Given the description of an element on the screen output the (x, y) to click on. 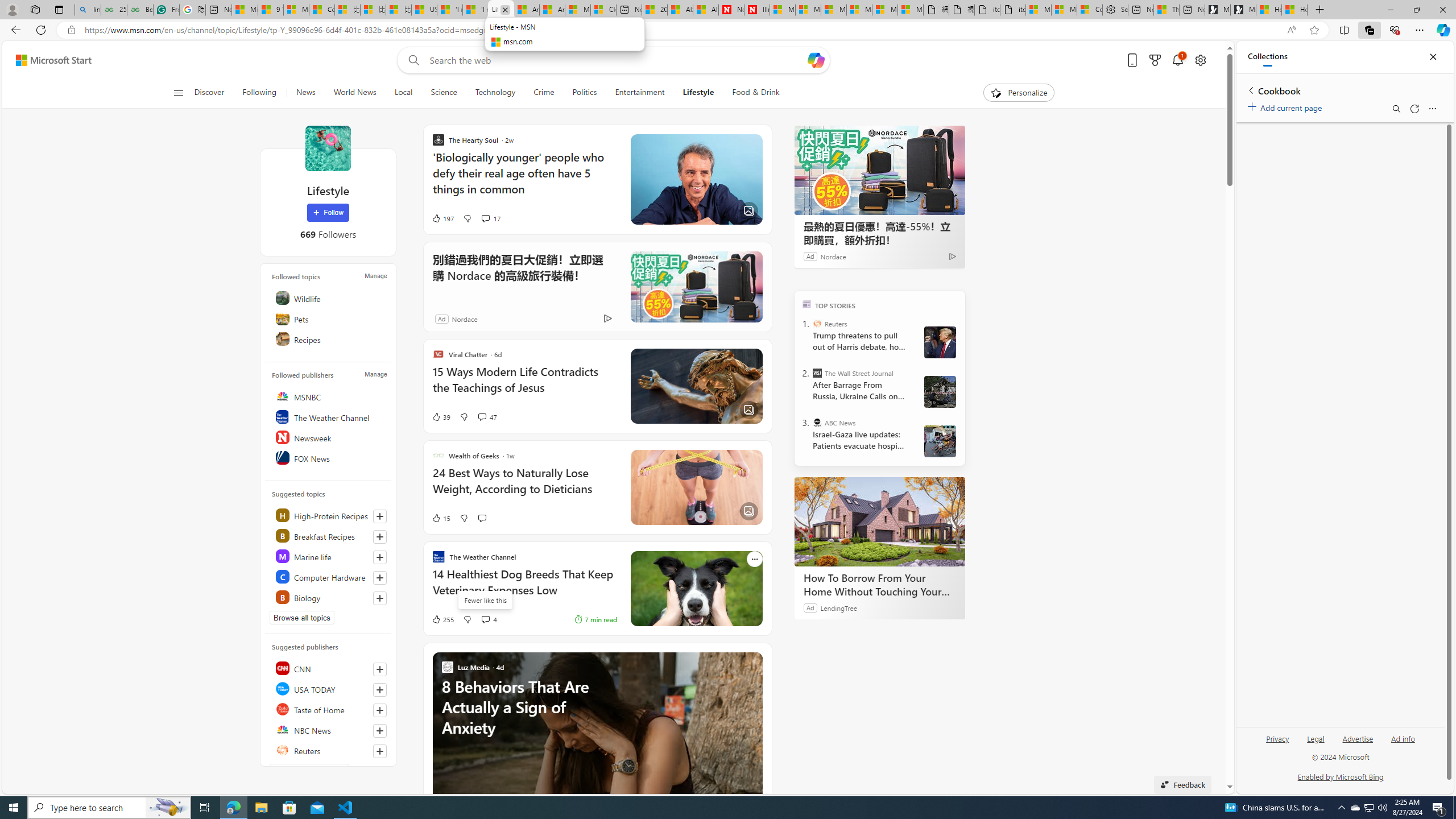
Microsoft Services Agreement (807, 9)
Start the conversation (482, 517)
20 Ways to Boost Your Protein Intake at Every Meal (654, 9)
Add current page (1286, 105)
View comments 4 Comment (489, 619)
Microsoft account | Privacy (1063, 9)
FOX News (328, 457)
Microsoft Start Gaming (1242, 9)
Food & Drink (751, 92)
Start the conversation (481, 517)
